Given the description of an element on the screen output the (x, y) to click on. 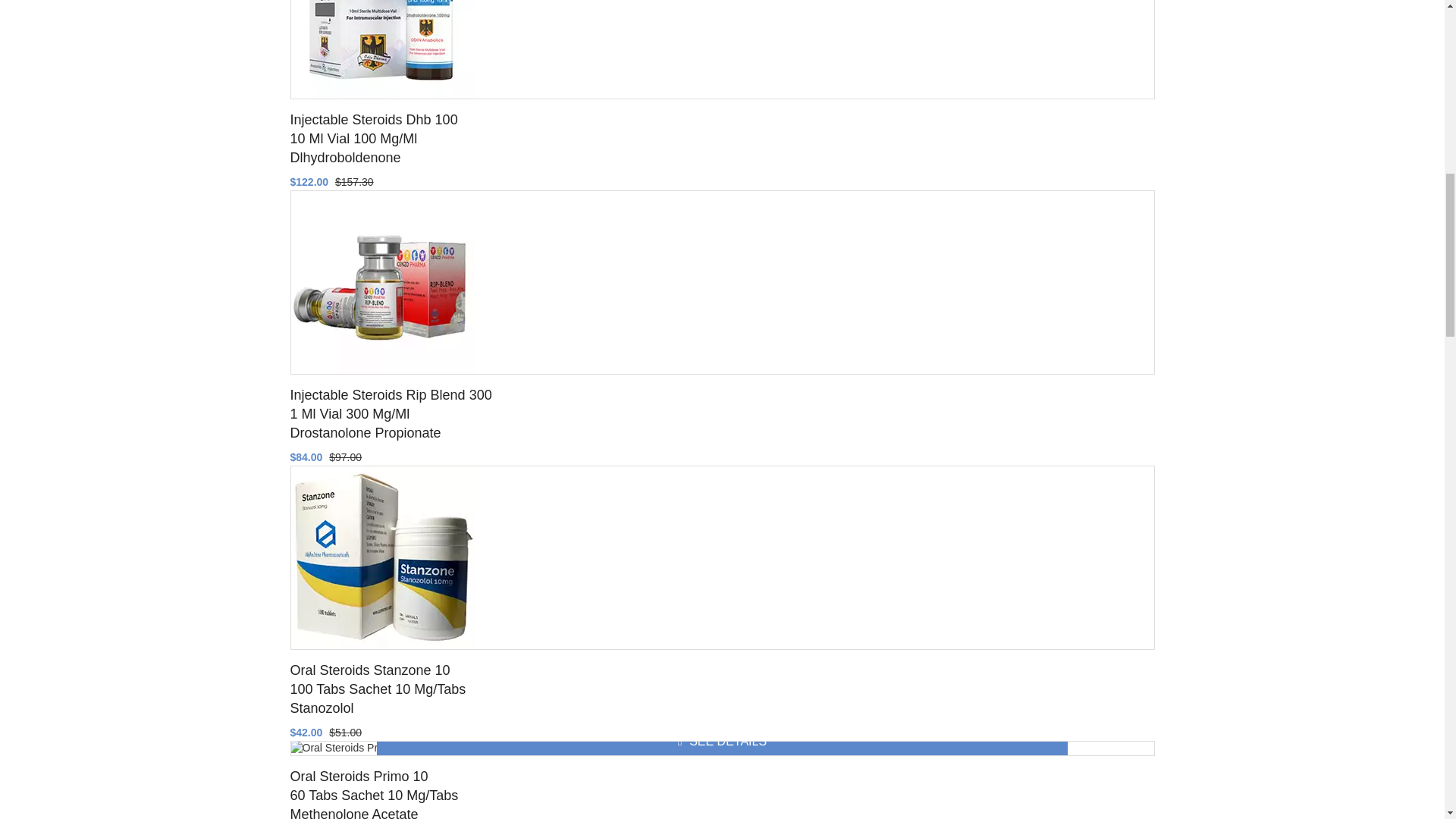
ADD TO CART (722, 754)
SEE DETAILS (722, 741)
